Given the description of an element on the screen output the (x, y) to click on. 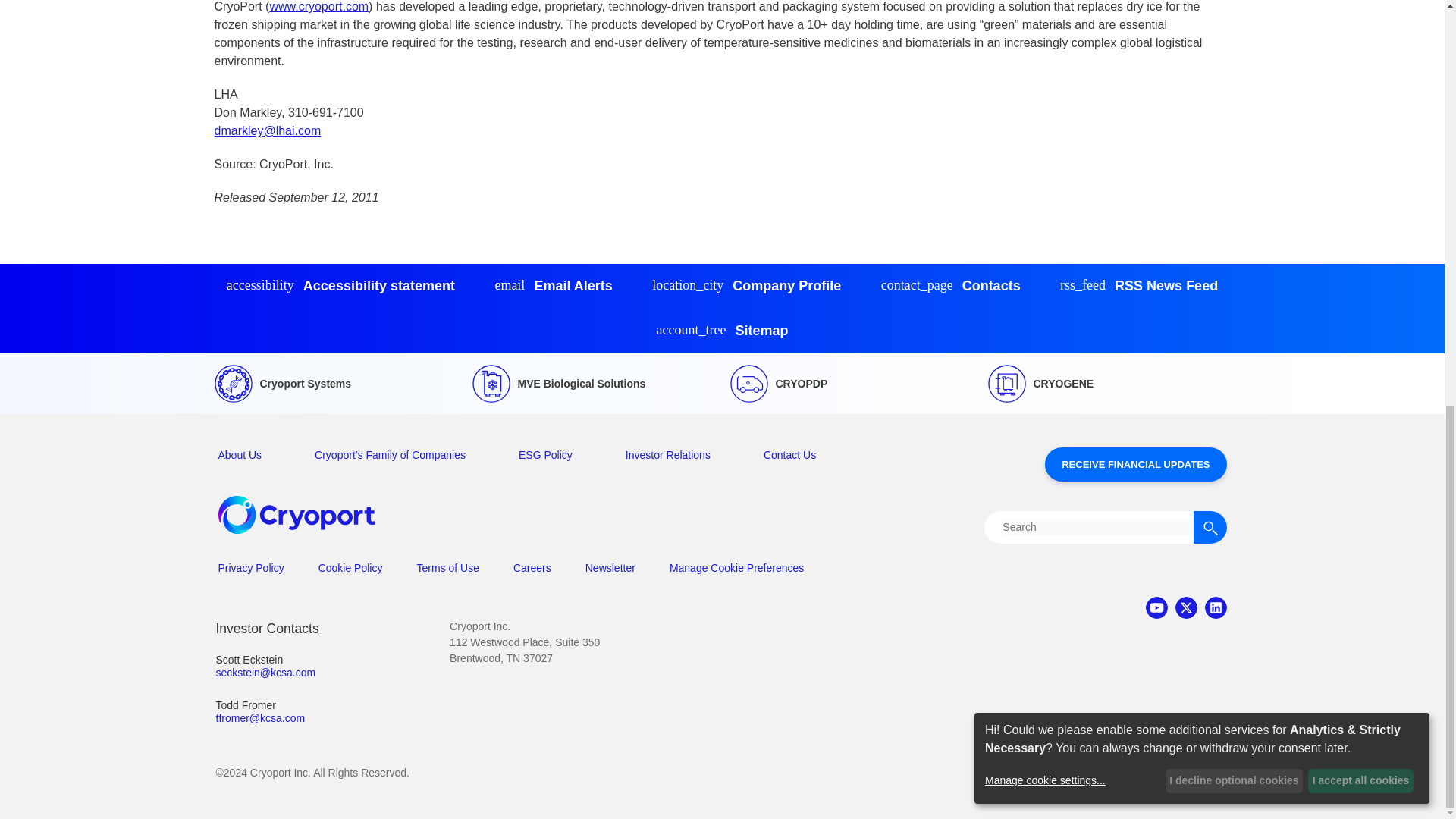
Search (1114, 527)
Opens in a new window (1139, 285)
Opens in a new window (1214, 608)
Search (1210, 527)
Opens in a new window (1185, 608)
Search (1210, 527)
Opens in a new window (1155, 608)
Opens in a new window (1135, 464)
